Given the description of an element on the screen output the (x, y) to click on. 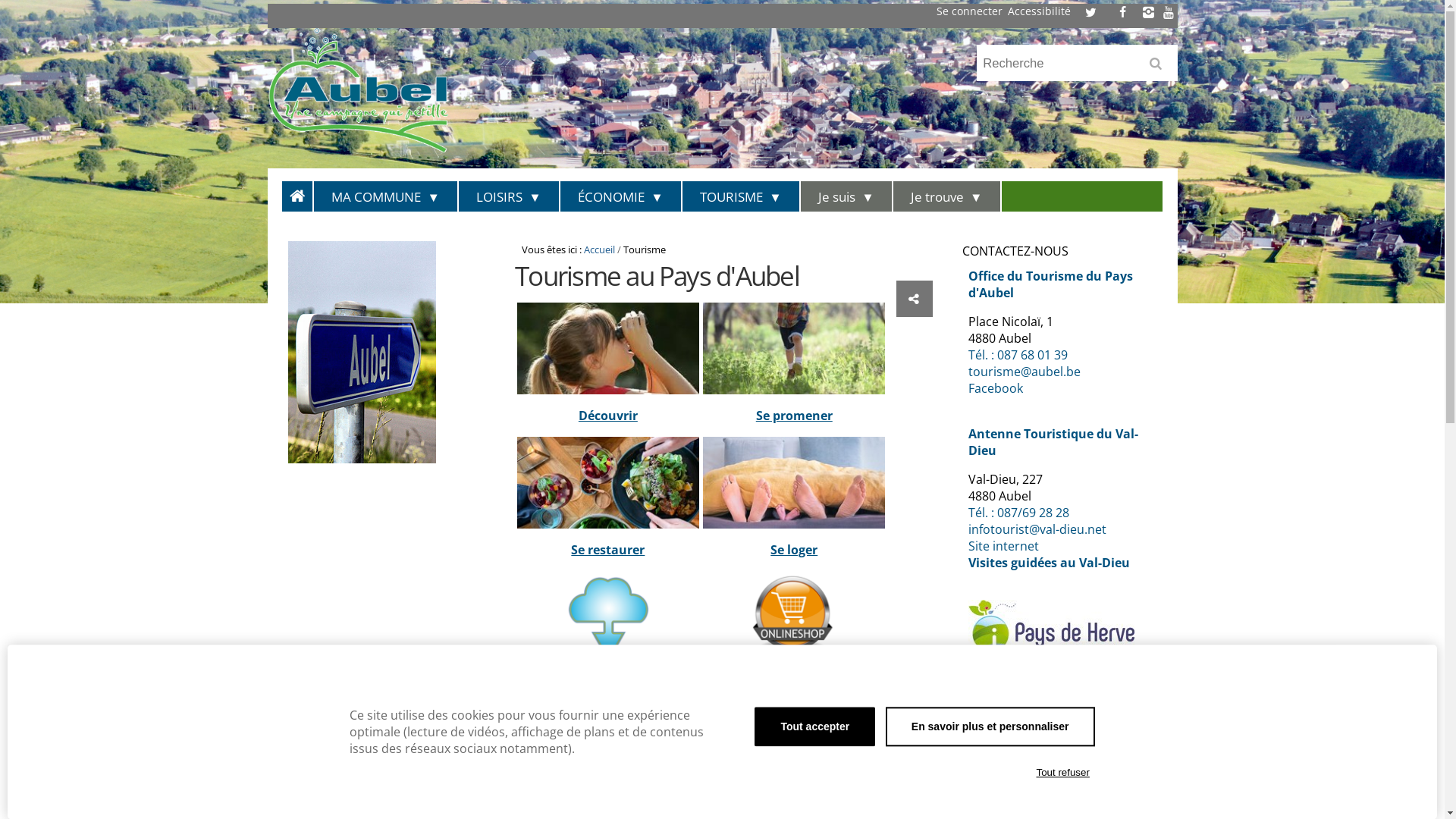
vignette dormir Element type: hover (793, 482)
Maison du Tourisme du Pays de Herve Element type: hover (1051, 625)
tourisme@aubel.be Element type: text (1024, 371)
Office du Tourisme du Pays d'Aubel Element type: text (1050, 284)
vignette promener2 Element type: hover (793, 348)
Commune d'Aubel Element type: hover (356, 89)
Antenne Touristique du Val-Dieu Element type: text (1053, 441)
Se restaurer Element type: text (607, 549)
Accueil Element type: text (599, 249)
LOISIRS Element type: text (509, 195)
Commune d'Aubel Element type: hover (379, 89)
vignette manger 4 Element type: hover (608, 482)
TOURISME Element type: text (741, 195)
Recherche Element type: hover (1076, 63)
Je suis Element type: text (846, 195)
E-shop Element type: text (794, 683)
https://twitter.com/CommuneAubel Element type: hover (1090, 11)
Site internet Element type: text (1003, 545)
Se connecter Element type: text (969, 10)
Aller au contenu. Element type: text (305, 193)
https://www.facebook.com/commune.aubel Element type: hover (1121, 11)
Facebook Element type: text (995, 387)
Contact Element type: text (990, 705)
Je trouve Element type: text (947, 195)
Se promener Element type: text (794, 415)
https://www.instagram.com/communeaubel Element type: hover (1148, 11)
En savoir plus et personnaliser Element type: text (990, 726)
Tout refuser Element type: text (1063, 772)
https://www.youtube.com/user/videosaubel Element type: hover (1168, 11)
Tout accepter Element type: text (814, 726)
MA COMMUNE Element type: text (385, 195)
infotourist@val-dieu.net Element type: text (1037, 528)
Se loger Element type: text (793, 549)
Rechercher Element type: text (1159, 68)
vignette eshop Element type: hover (793, 616)
